Given the description of an element on the screen output the (x, y) to click on. 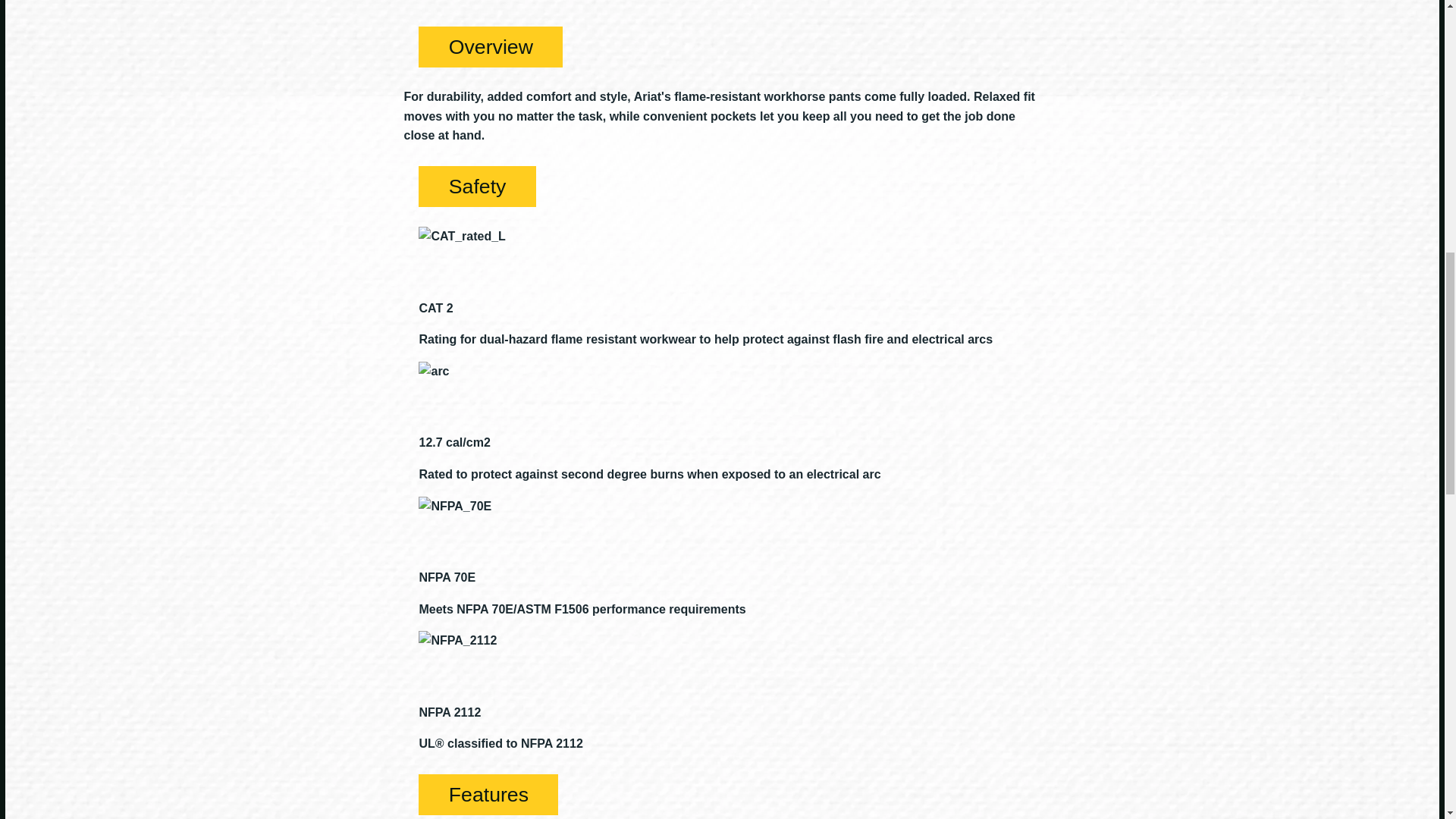
arc (433, 371)
